Given the description of an element on the screen output the (x, y) to click on. 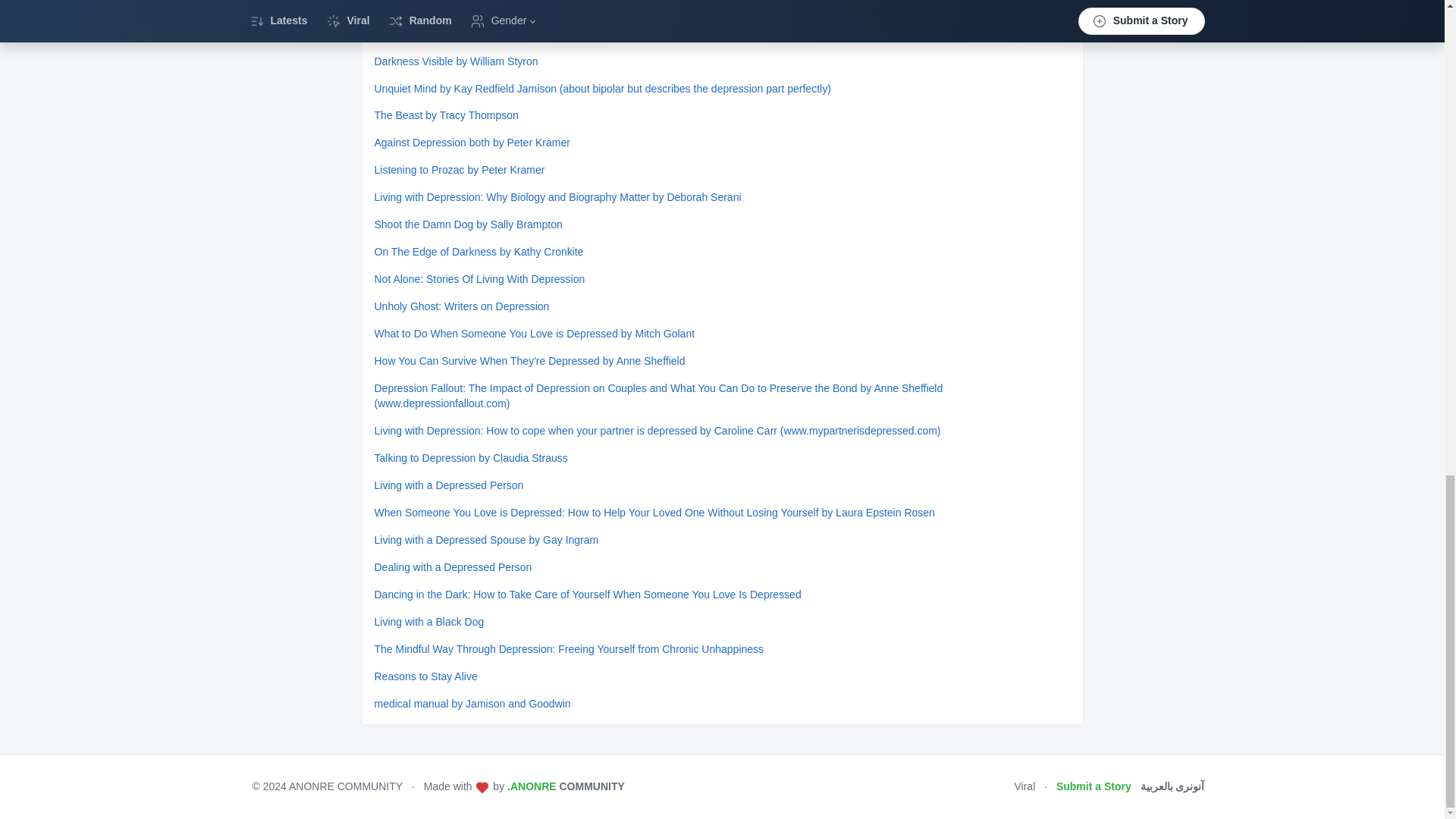
ANONRE - COMMUNITY (565, 786)
